Given the description of an element on the screen output the (x, y) to click on. 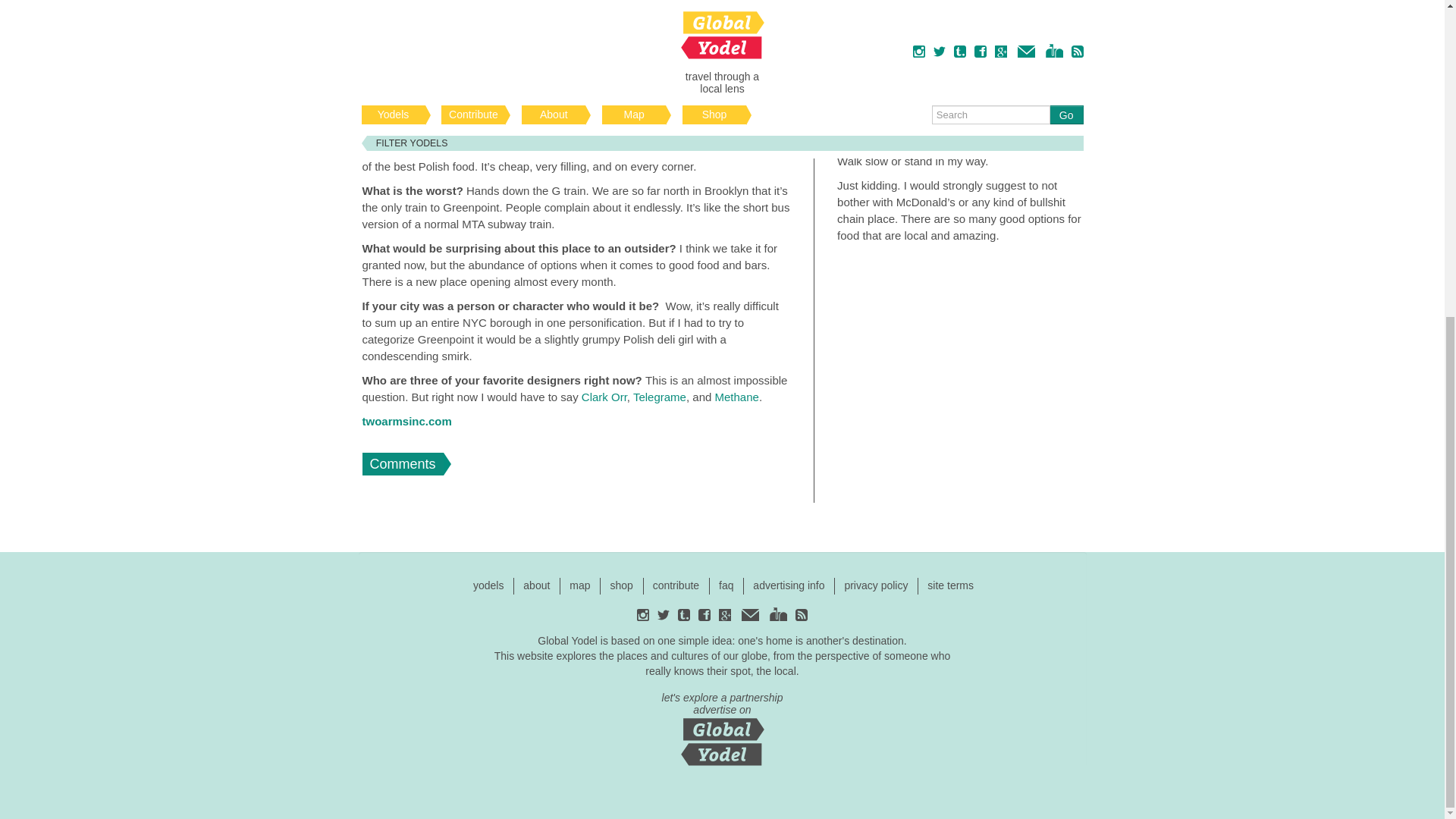
yodels (488, 584)
Telegrame (659, 396)
Advertise on Global Yodel (721, 726)
Clark Orr (603, 396)
shop (620, 584)
about (536, 584)
map (579, 584)
twoarmsinc.com (406, 420)
Greenpoint Tattoo Company (966, 5)
Methane (736, 396)
